Given the description of an element on the screen output the (x, y) to click on. 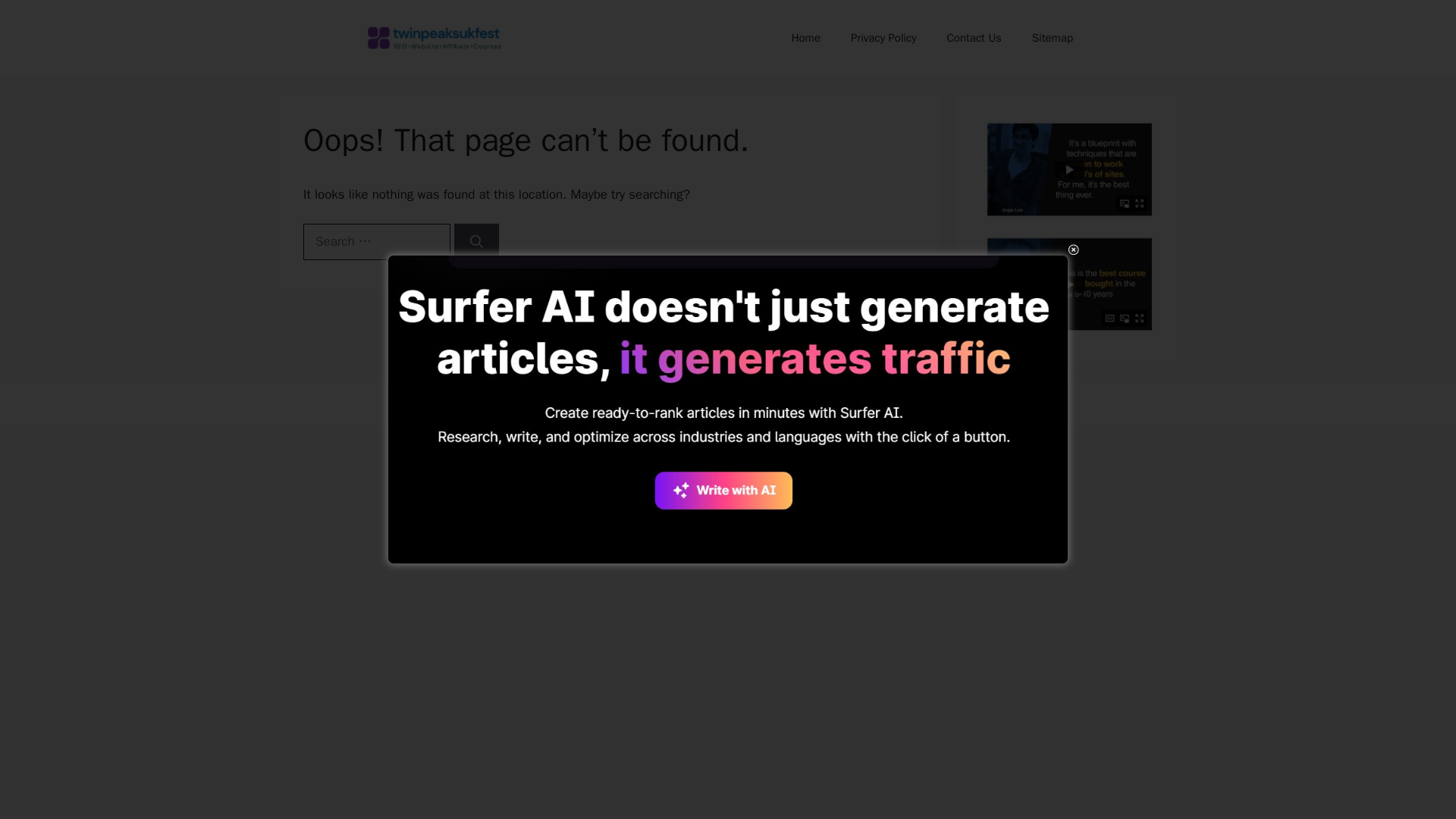
Home (805, 37)
Close (1072, 249)
Sitemap (1051, 37)
Privacy Policy (883, 37)
Contact Us (973, 37)
Search for: (375, 241)
